Given the description of an element on the screen output the (x, y) to click on. 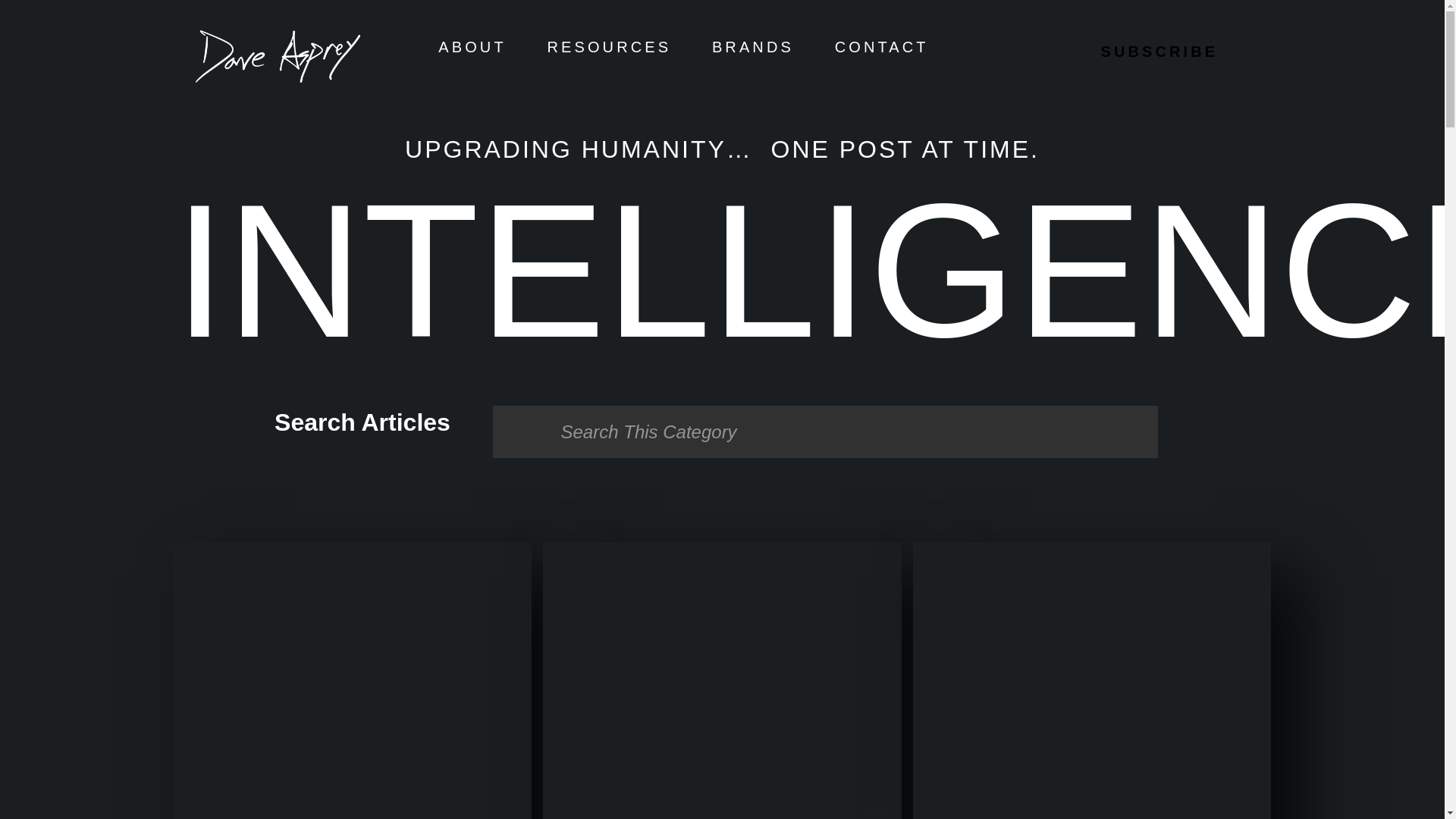
ABOUT (471, 46)
RESOURCES (609, 46)
Search (825, 431)
CONTACT (881, 46)
BRANDS (752, 46)
